Given the description of an element on the screen output the (x, y) to click on. 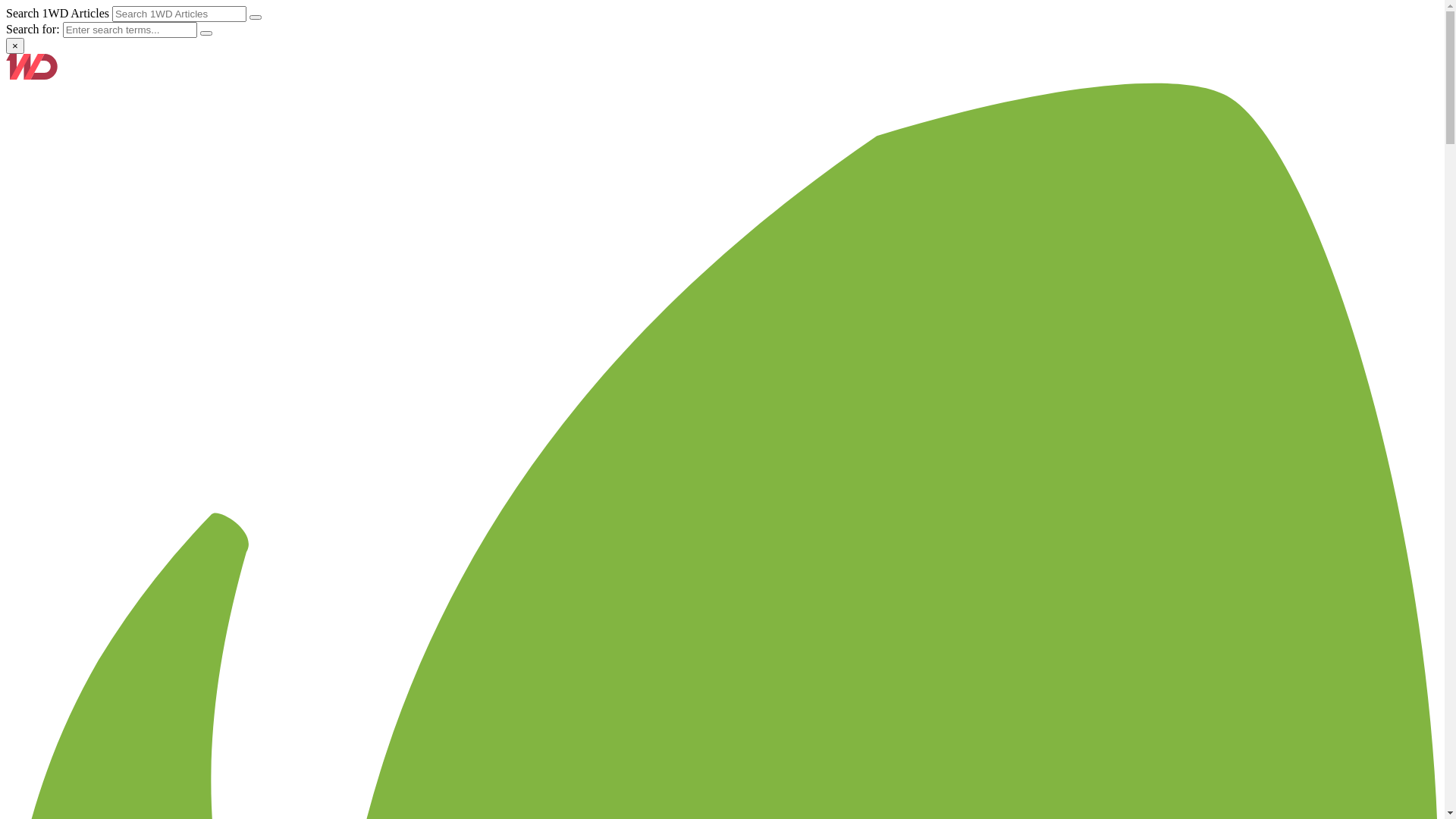
1stWebDesigner Element type: hover (31, 75)
